Given the description of an element on the screen output the (x, y) to click on. 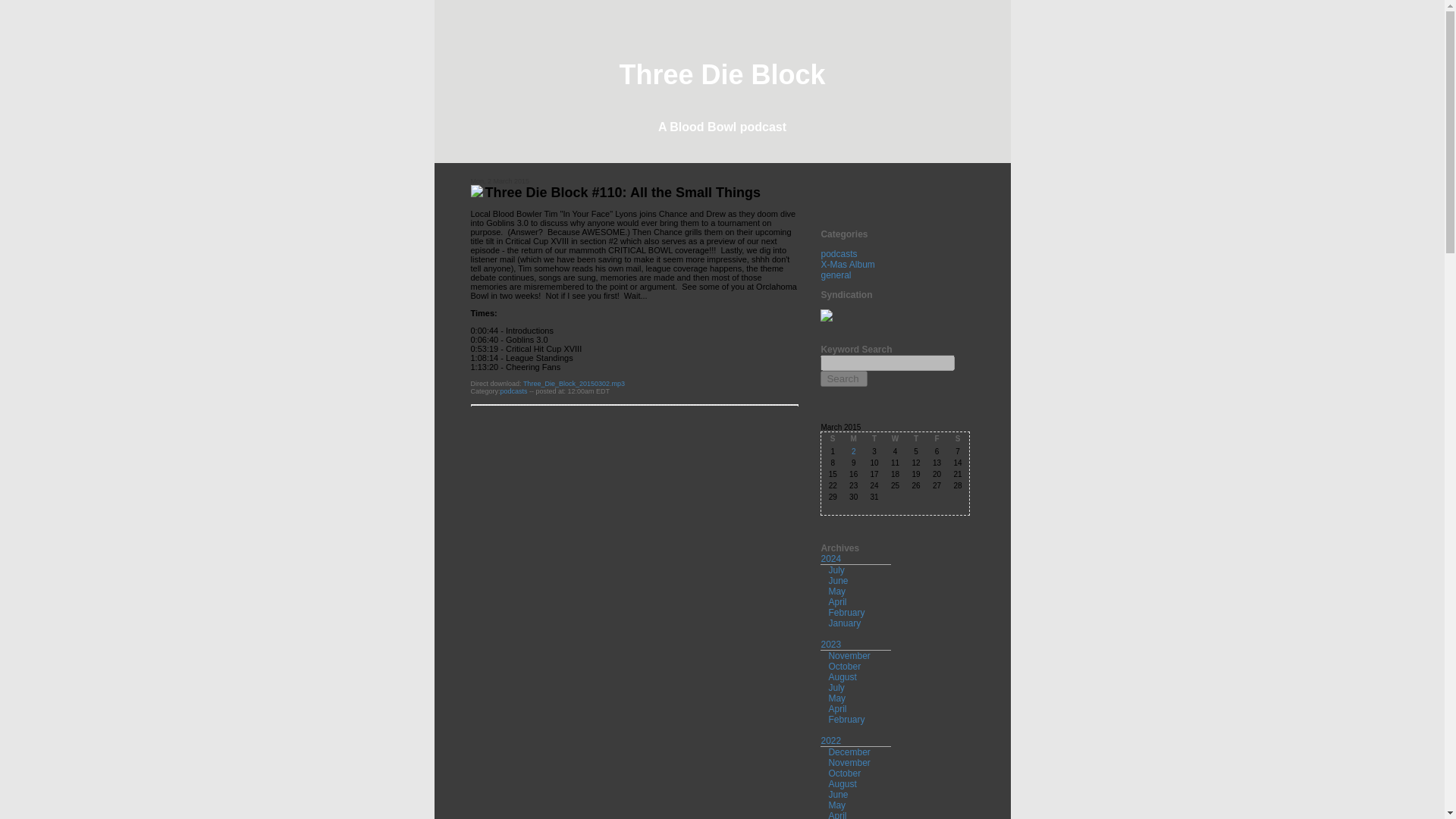
December (848, 751)
April (836, 708)
February (846, 612)
November (848, 762)
July (836, 687)
October (844, 665)
Wednesday (894, 438)
August (842, 783)
general (835, 275)
August (842, 676)
July (836, 570)
Tuesday (873, 438)
May (836, 591)
Thursday (914, 438)
Search  (844, 378)
